Given the description of an element on the screen output the (x, y) to click on. 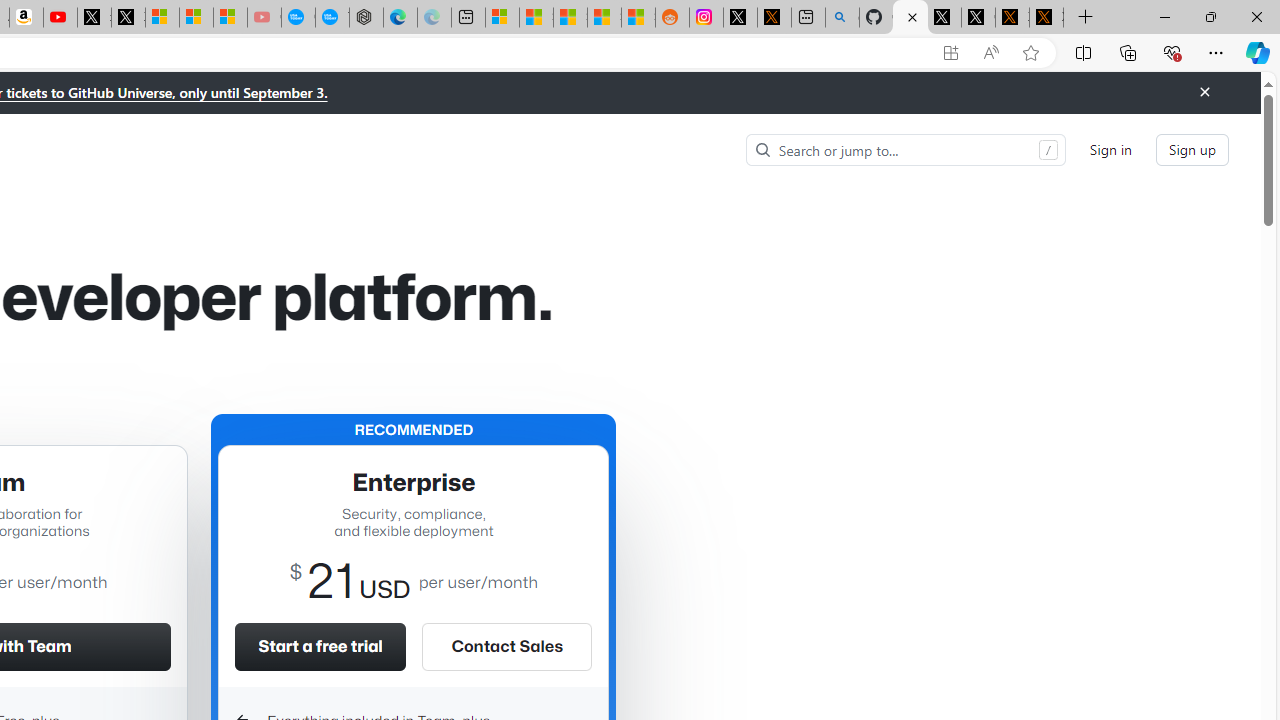
Gloom - YouTube - Sleeping (264, 17)
App available. Install GitHub (950, 53)
Shanghai, China Weather trends | Microsoft Weather (638, 17)
Opinion: Op-Ed and Commentary - USA TODAY (297, 17)
Microsoft account | Microsoft Account Privacy Settings (502, 17)
